Given the description of an element on the screen output the (x, y) to click on. 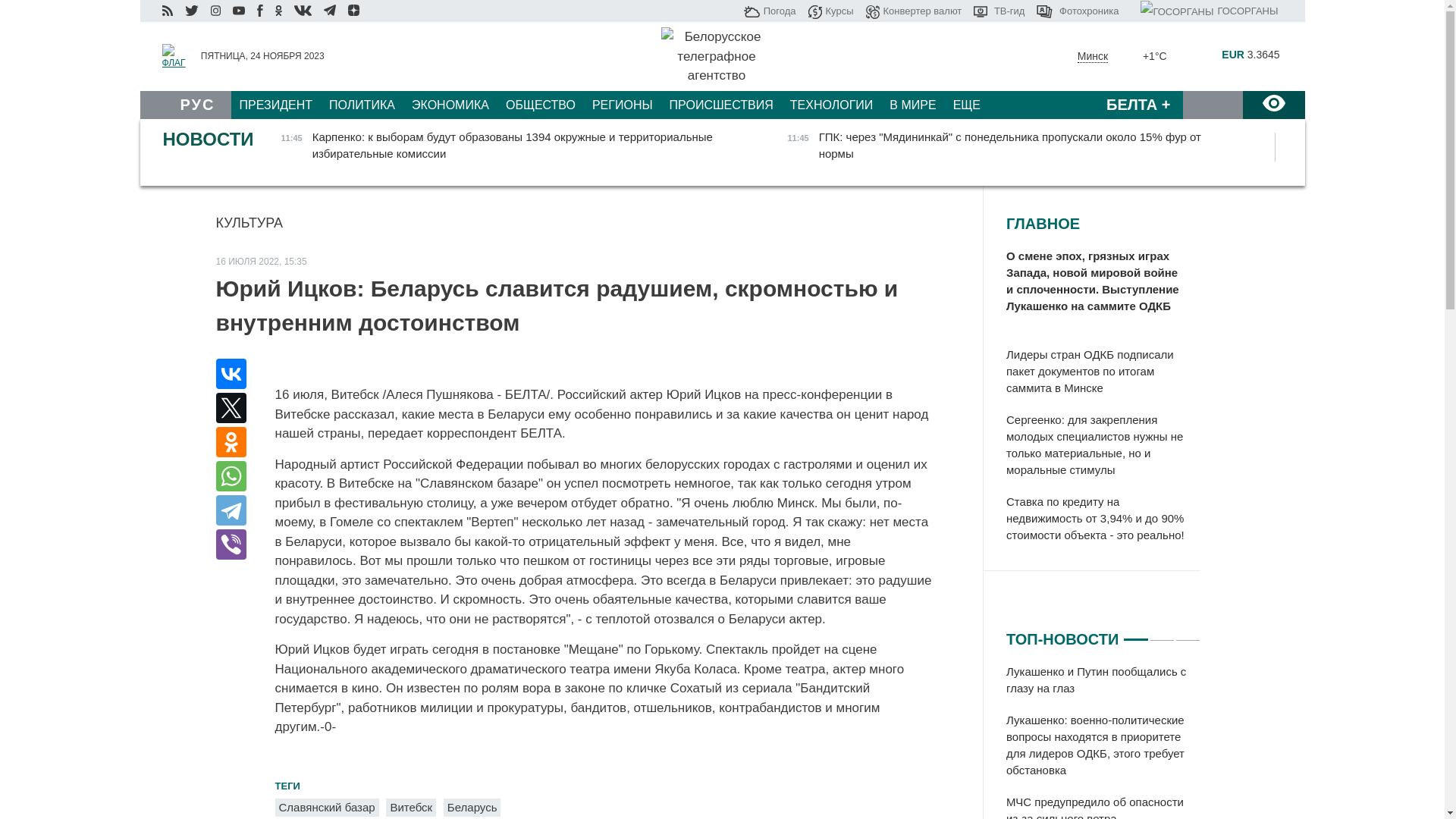
Telegram Element type: hover (329, 9)
facebook Element type: hover (259, 9)
Instagram Element type: hover (215, 10)
Telegram Element type: hover (231, 510)
facebook Element type: hover (259, 10)
odnoklassniki Element type: hover (277, 10)
Viber Element type: hover (231, 544)
Rss Element type: hover (166, 9)
WhatsApp Element type: hover (231, 476)
2 Element type: text (1161, 632)
twitter Element type: hover (191, 10)
Telegram Element type: hover (329, 9)
Rss Element type: hover (167, 10)
Zen.yandex Element type: hover (353, 9)
YouTube Element type: hover (238, 9)
3.0805 Element type: text (1231, 72)
YouTube Element type: hover (238, 10)
Instagram Element type: hover (214, 9)
1 Element type: text (1135, 632)
3 Element type: text (1187, 632)
odnoklassniki Element type: hover (278, 9)
twitter Element type: hover (191, 9)
Zen.yandex Element type: hover (352, 9)
Twitter Element type: hover (231, 407)
EUR 3.3645 Element type: text (1231, 54)
